Given the description of an element on the screen output the (x, y) to click on. 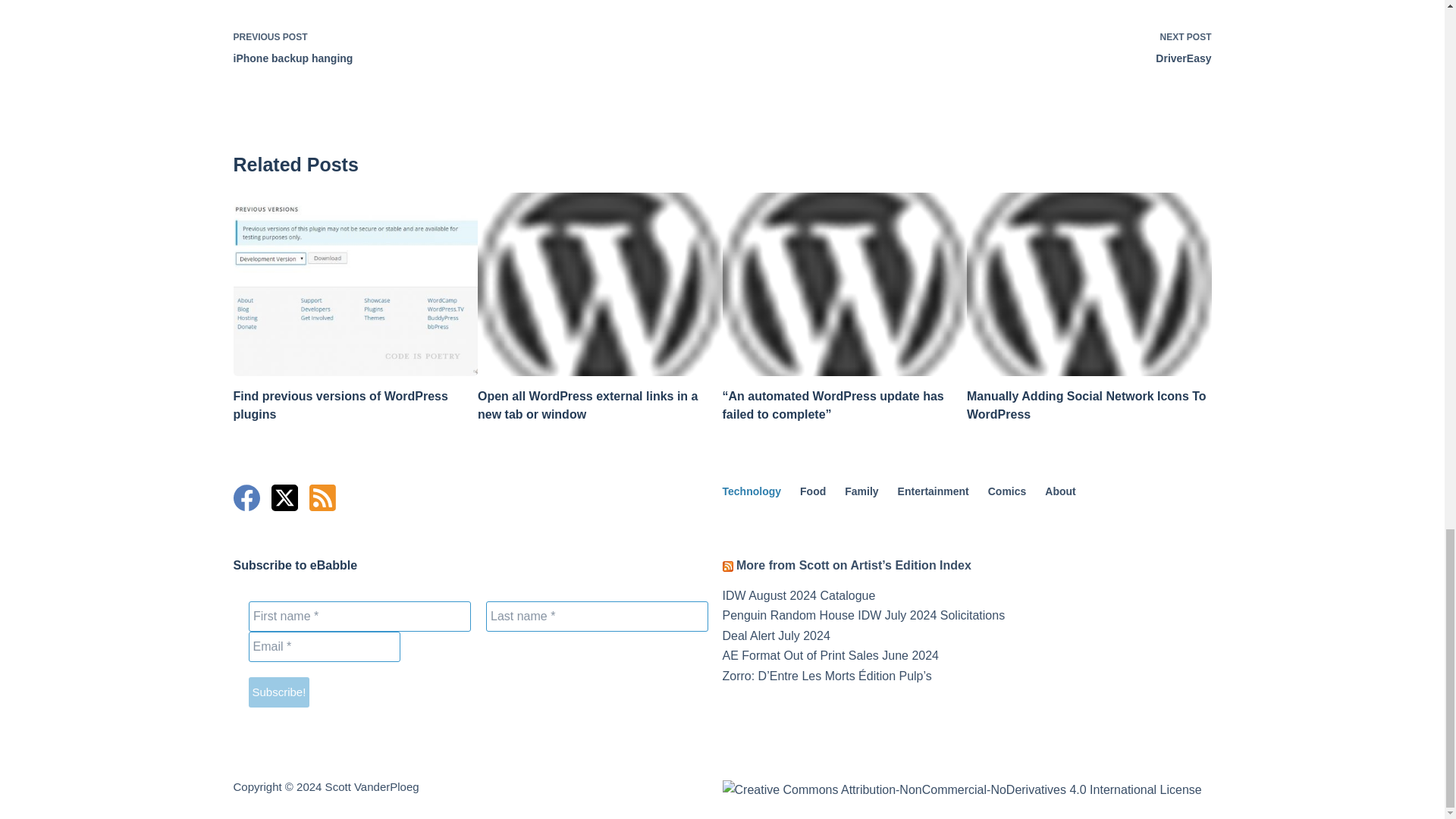
Find previous versions of WordPress plugins (340, 404)
Subscribe! (279, 692)
Last name (986, 46)
Email (595, 616)
Open all WordPress external links in a new tab or window (324, 646)
First name (587, 404)
